Given the description of an element on the screen output the (x, y) to click on. 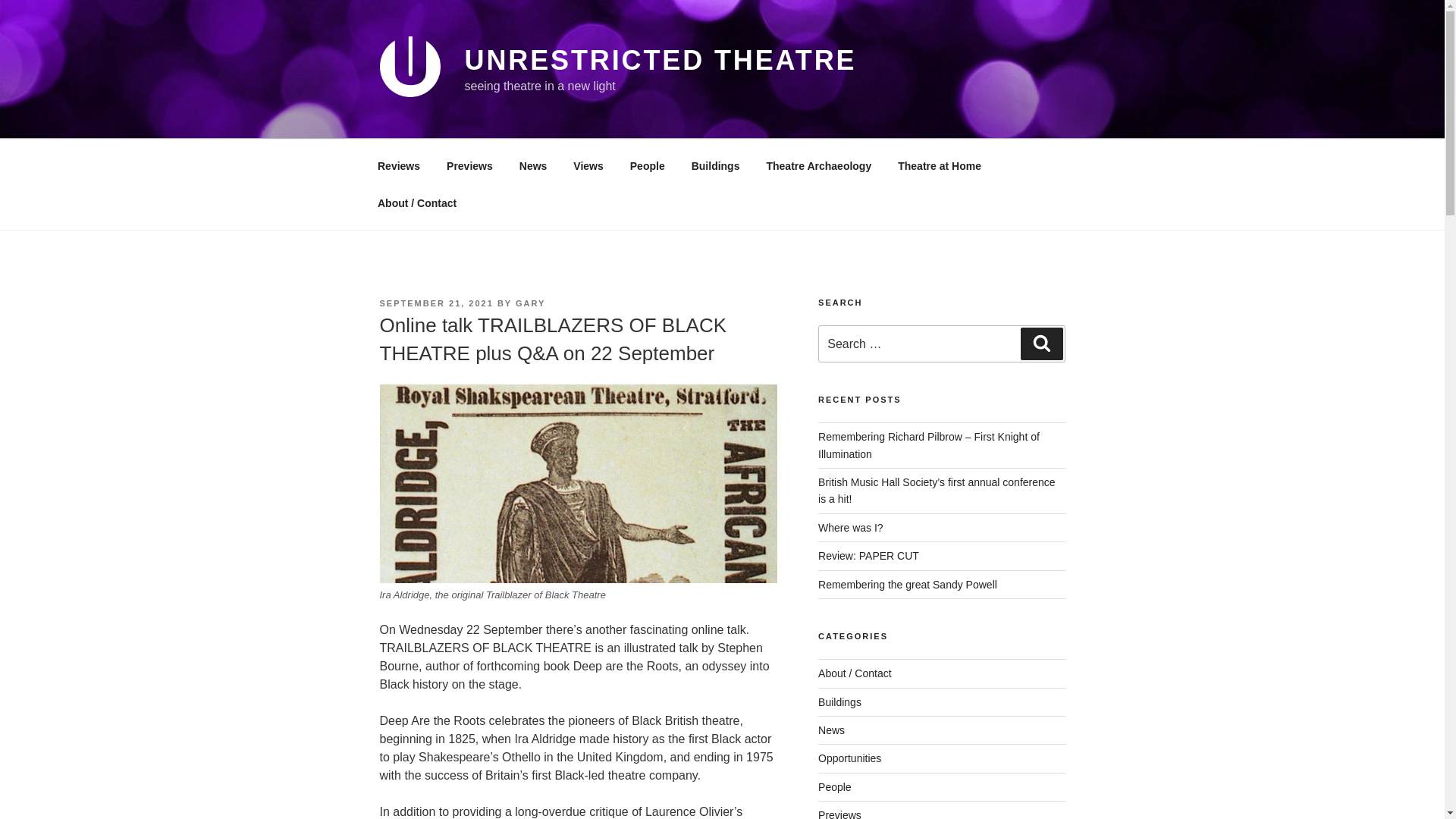
Theatre Archaeology (818, 165)
Reviews (398, 165)
Previews (469, 165)
People (646, 165)
GARY (529, 302)
News (532, 165)
Review: PAPER CUT (868, 555)
UNRESTRICTED THEATRE (660, 60)
Theatre at Home (939, 165)
Views (587, 165)
Search (1041, 343)
News (831, 729)
People (834, 787)
Previews (839, 814)
Buildings (715, 165)
